Given the description of an element on the screen output the (x, y) to click on. 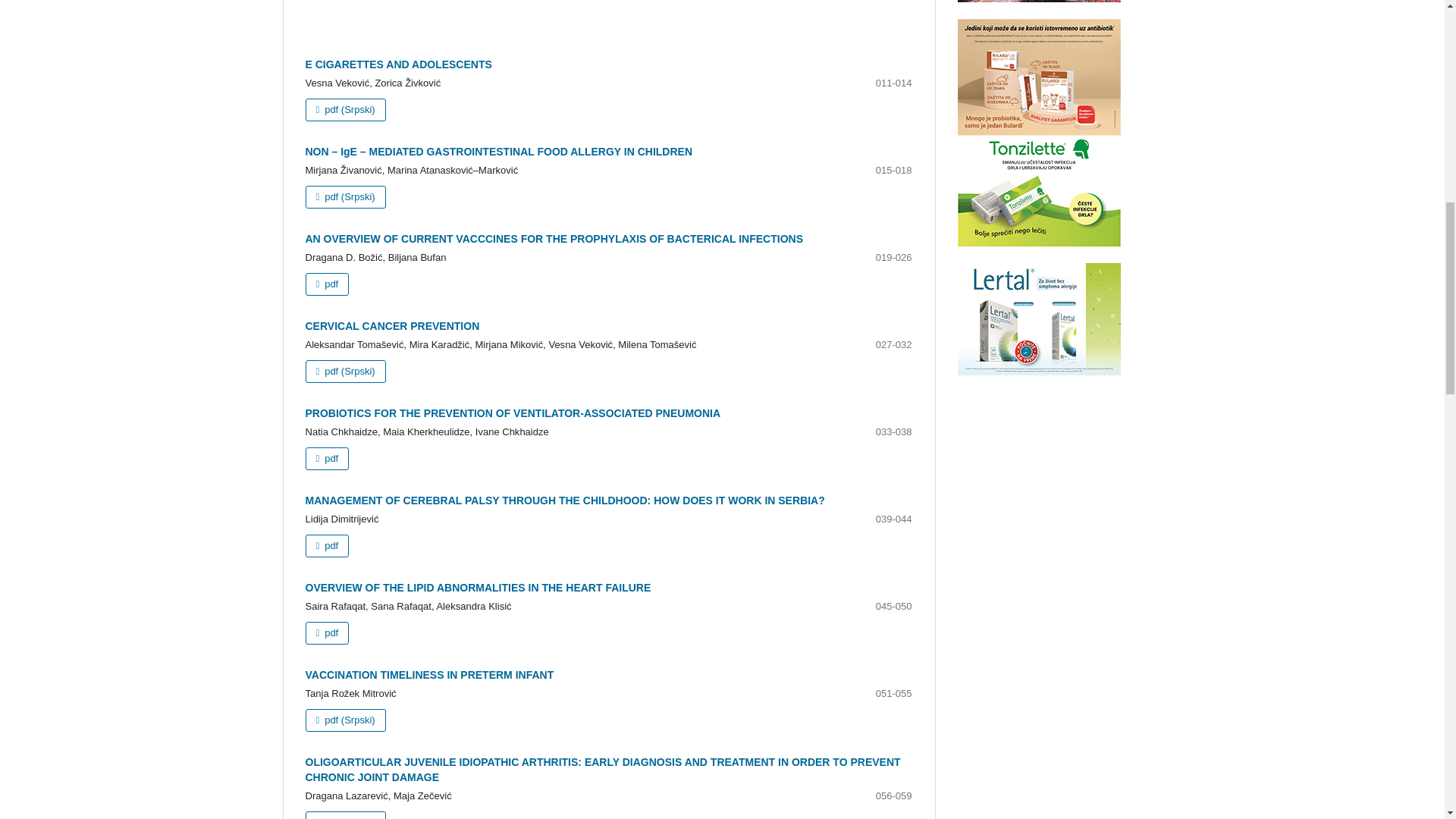
CERVICAL CANCER PREVENTION (391, 326)
E CIGARETTES AND ADOLESCENTS (398, 64)
pdf (326, 283)
pdf (326, 458)
pdf (326, 545)
OVERVIEW OF THE LIPID ABNORMALITIES IN THE HEART FAILURE (477, 587)
